Given the description of an element on the screen output the (x, y) to click on. 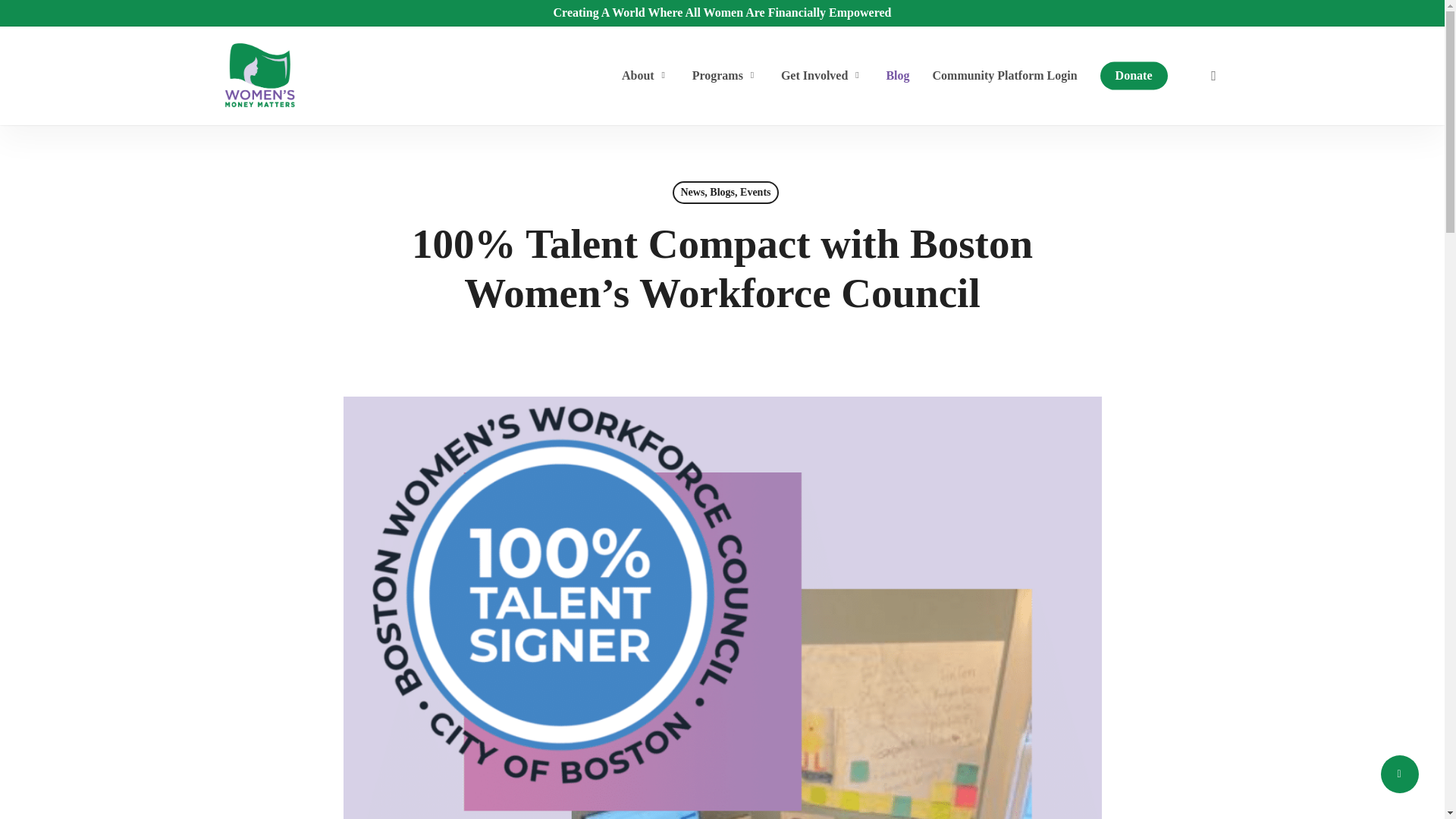
Donate (1133, 75)
About (645, 75)
Blog (897, 75)
Programs (725, 75)
Community Platform Login (1003, 75)
Get Involved (822, 75)
News, Blogs, Events (724, 191)
search (1213, 75)
